Given the description of an element on the screen output the (x, y) to click on. 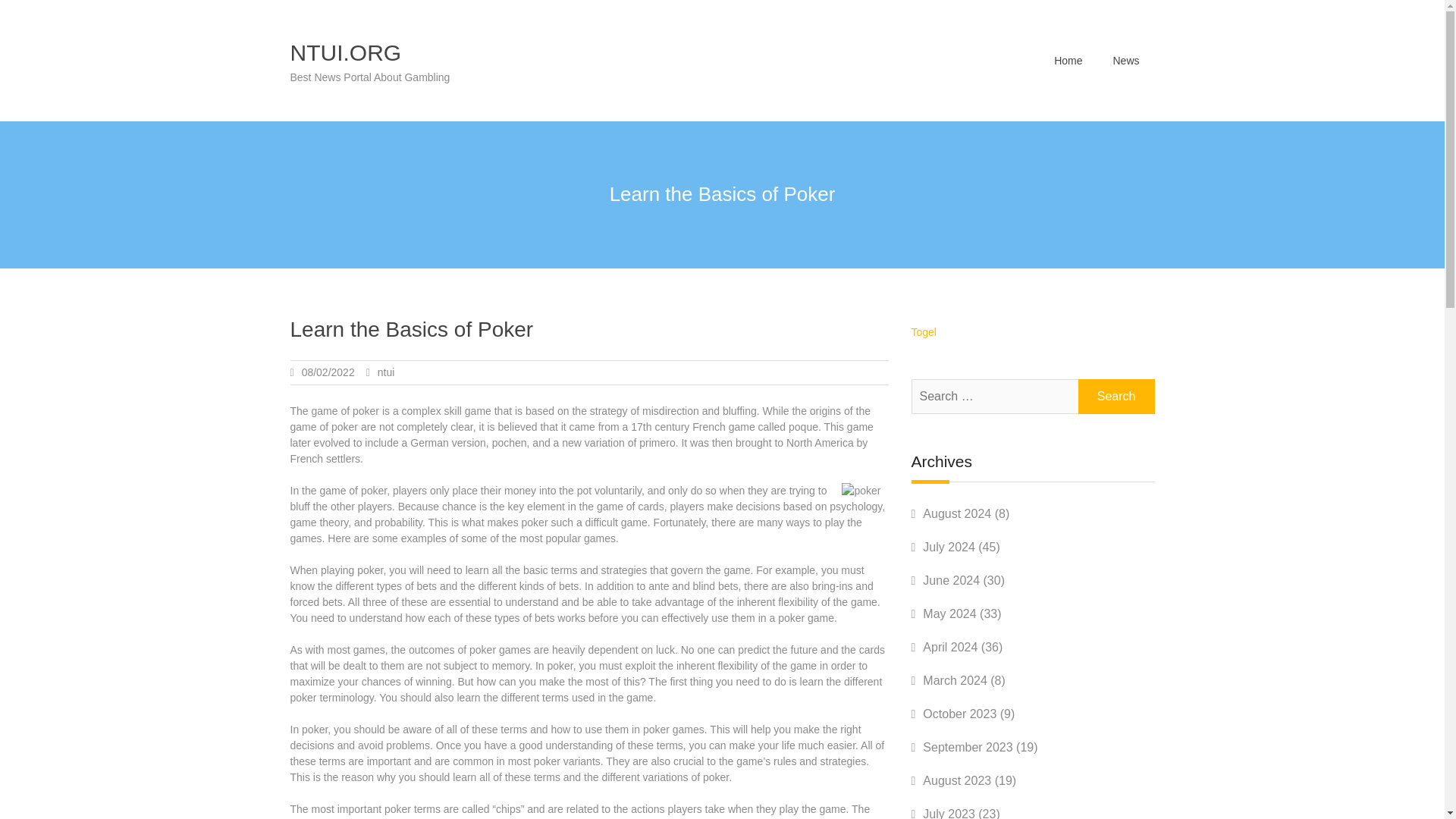
July 2023 (949, 813)
October 2023 (959, 713)
April 2024 (949, 646)
March 2024 (955, 680)
September 2023 (967, 747)
News (1125, 59)
Home (1068, 59)
June 2024 (951, 580)
May 2024 (949, 613)
Togel (923, 331)
